Given the description of an element on the screen output the (x, y) to click on. 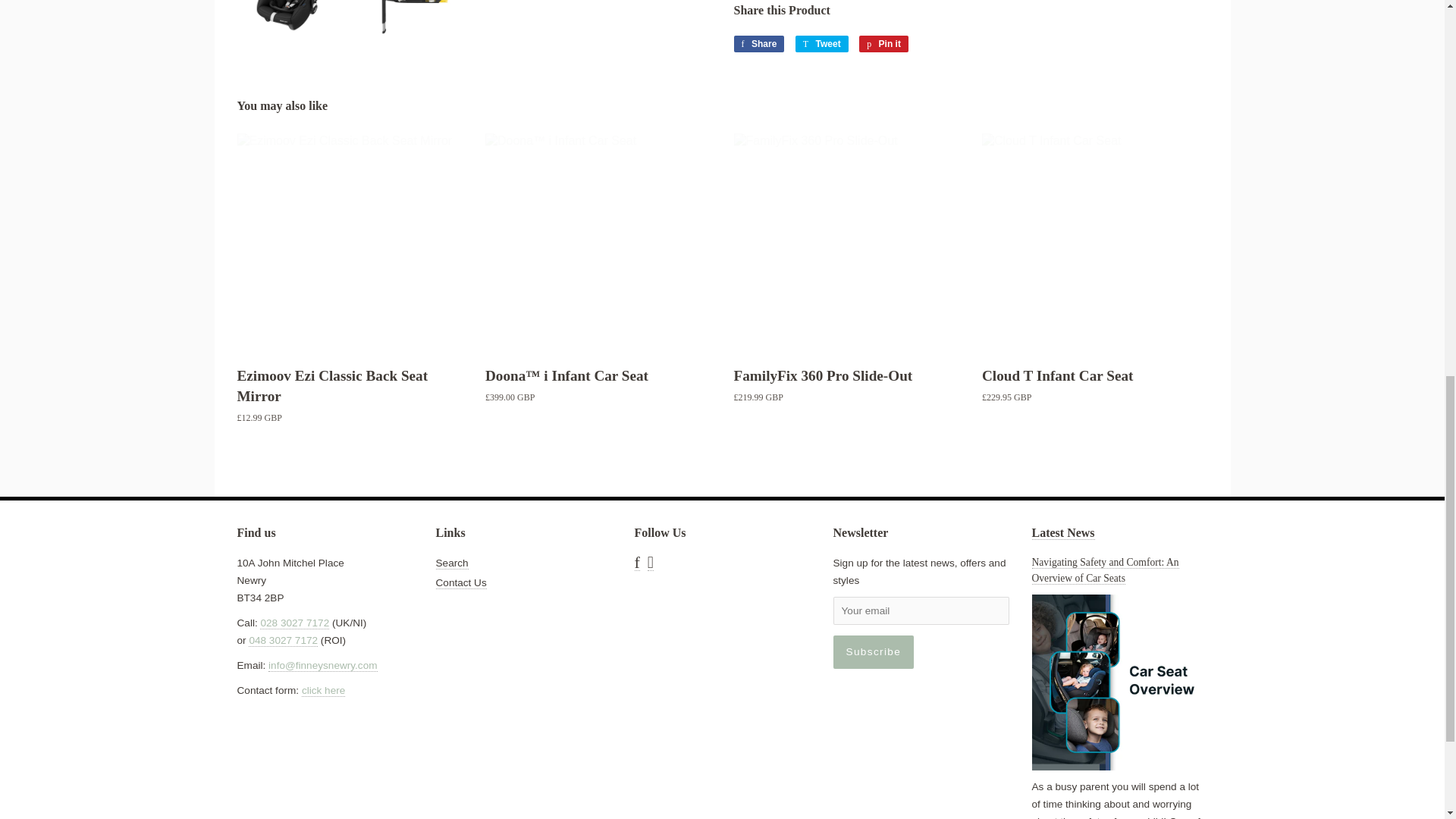
Tweet on Twitter (821, 44)
tel:04830277172 (282, 640)
Subscribe (873, 652)
Pin on Pinterest (883, 44)
Contact Us (323, 690)
Share on Facebook (758, 44)
